Given the description of an element on the screen output the (x, y) to click on. 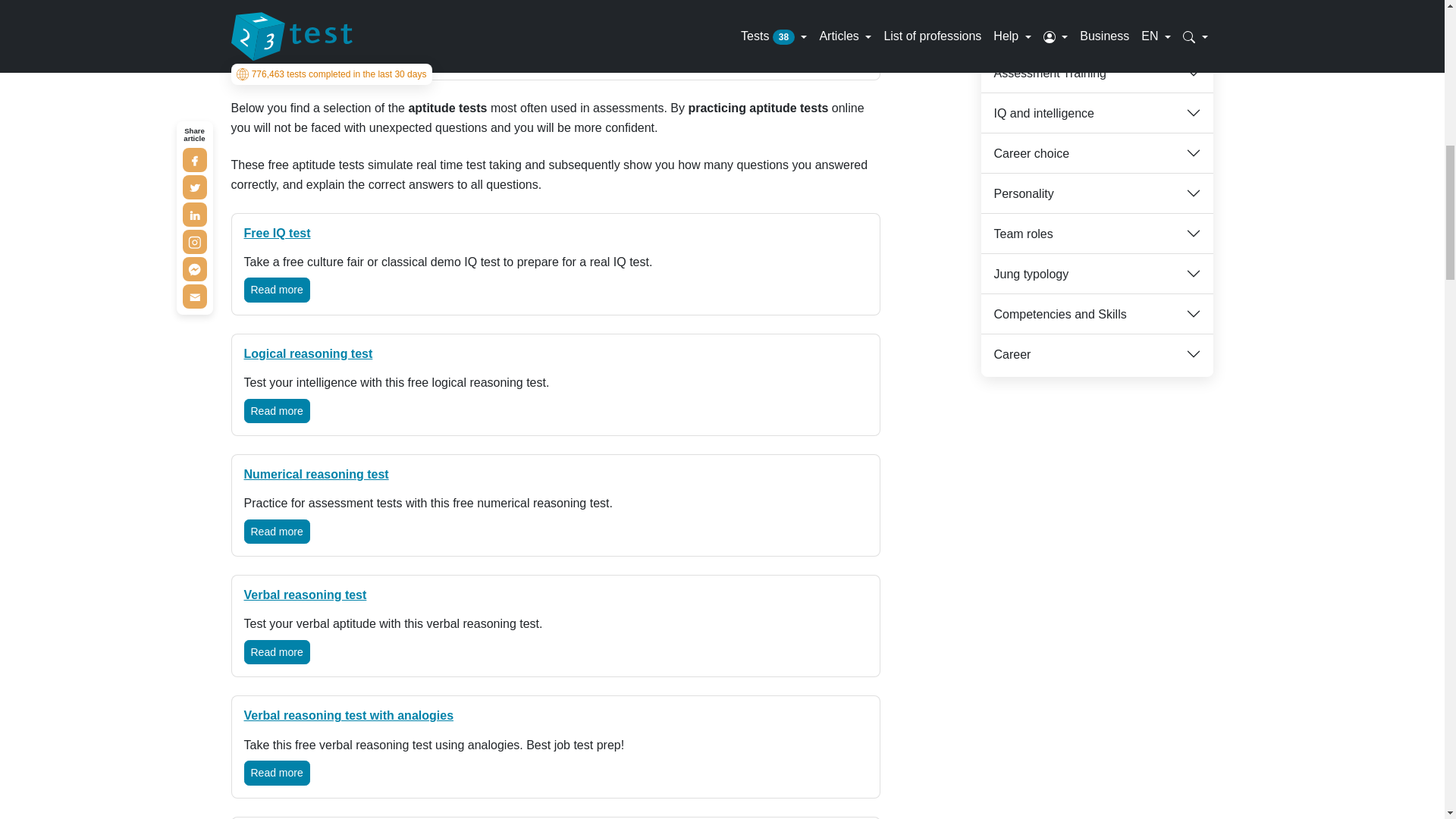
free demo iq test (277, 232)
verbal reasoning test (305, 594)
Logical reasoning test (308, 353)
Premium prep packages (830, 2)
Verbal reasoning test with analogies (349, 715)
Numerical reasoning test (316, 473)
